Given the description of an element on the screen output the (x, y) to click on. 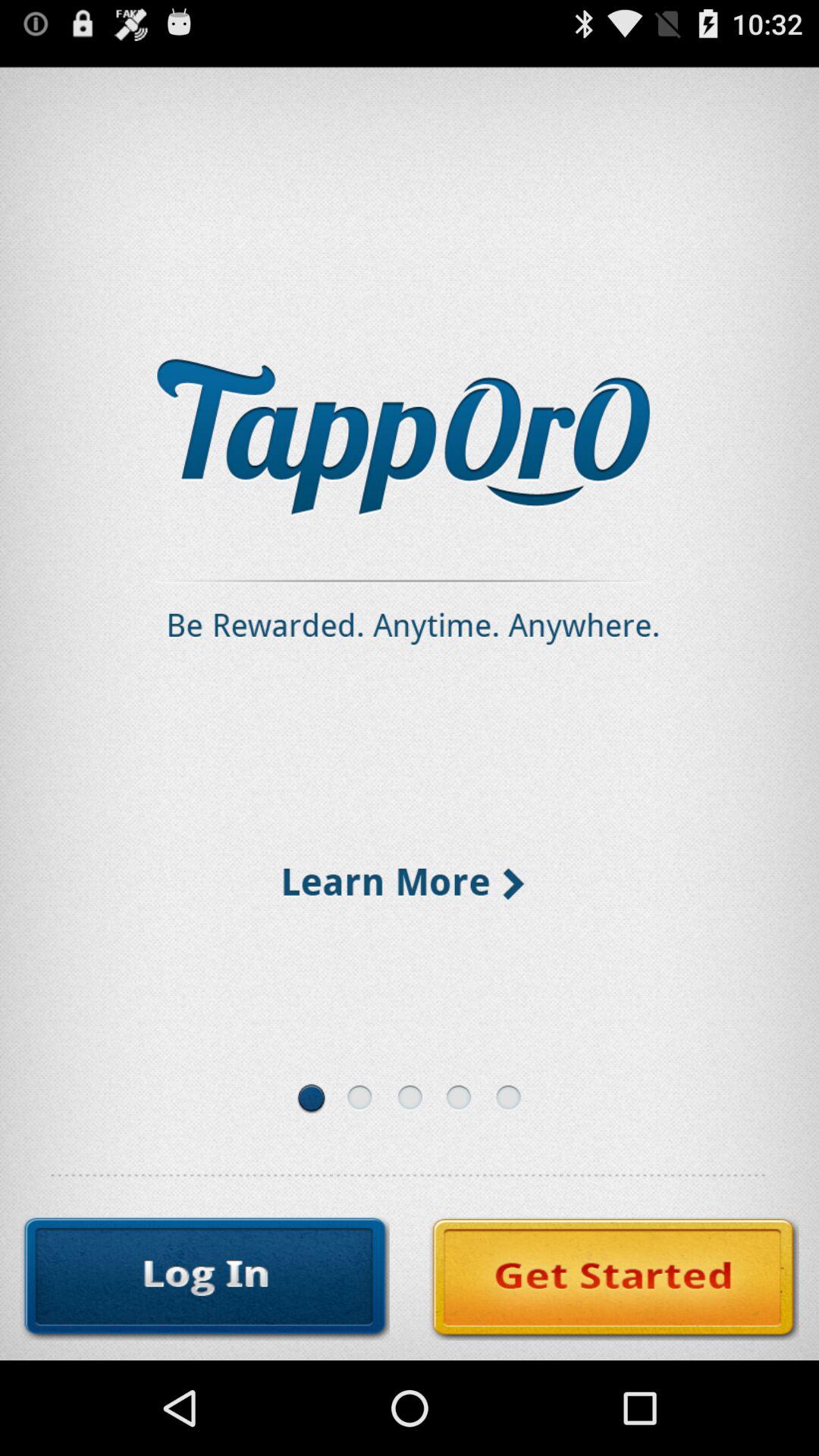
press to get started (614, 1278)
